Given the description of an element on the screen output the (x, y) to click on. 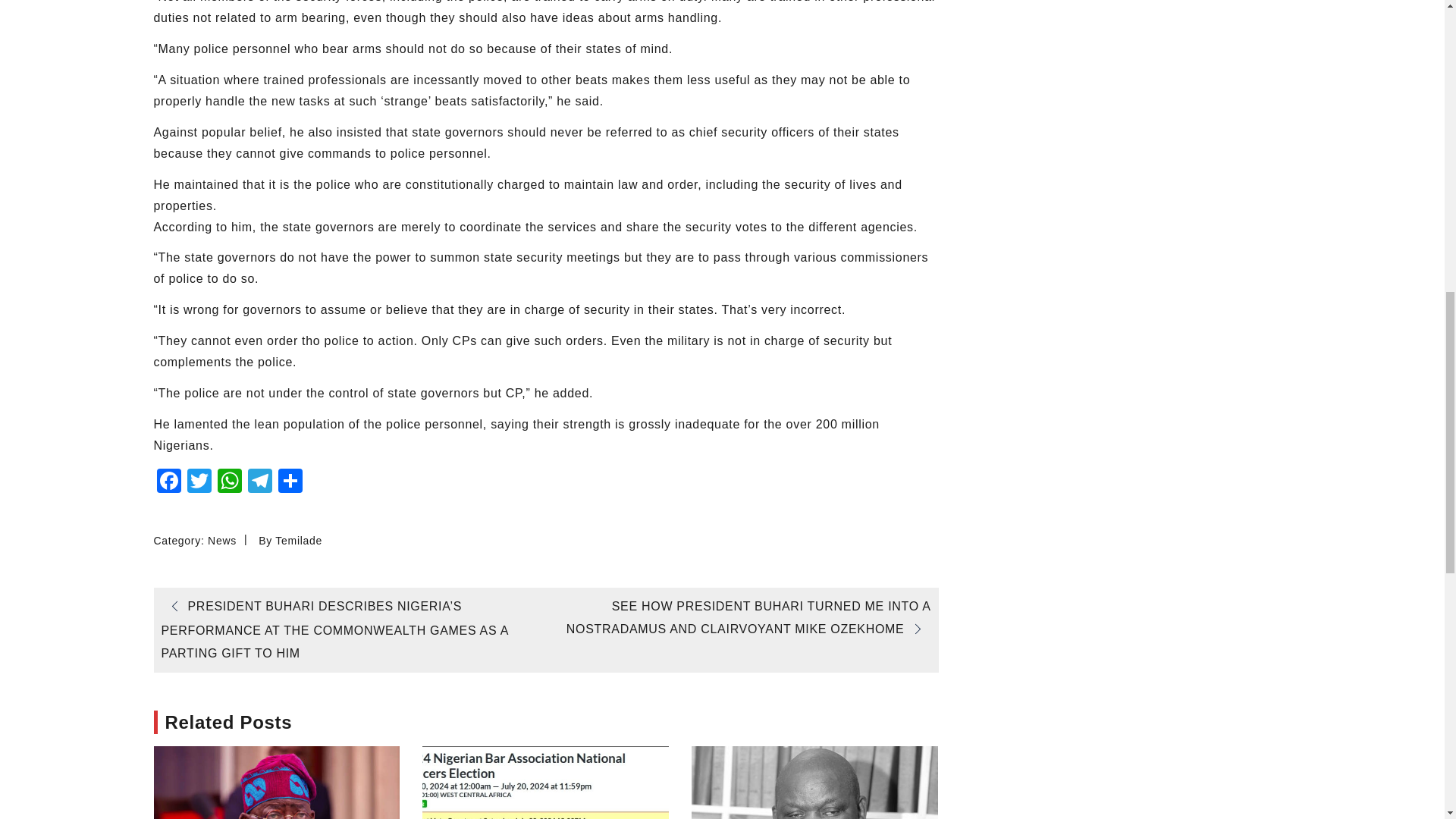
Twitter (198, 482)
Telegram (259, 482)
Facebook (167, 482)
WhatsApp (229, 482)
WhatsApp (229, 482)
Twitter (198, 482)
Telegram (259, 482)
Facebook (167, 482)
